Given the description of an element on the screen output the (x, y) to click on. 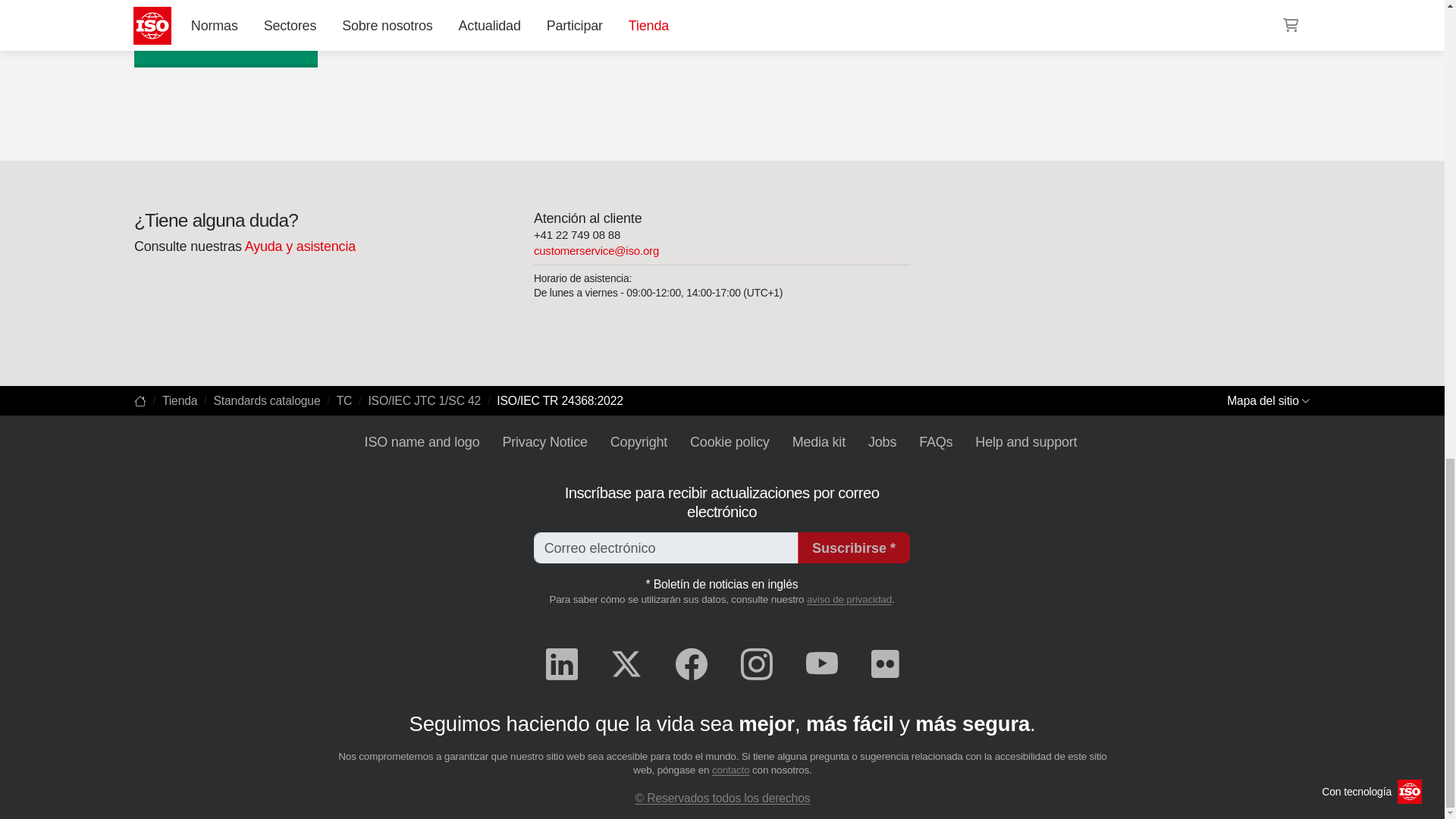
Etapa: 60.60 (185, 41)
